Given the description of an element on the screen output the (x, y) to click on. 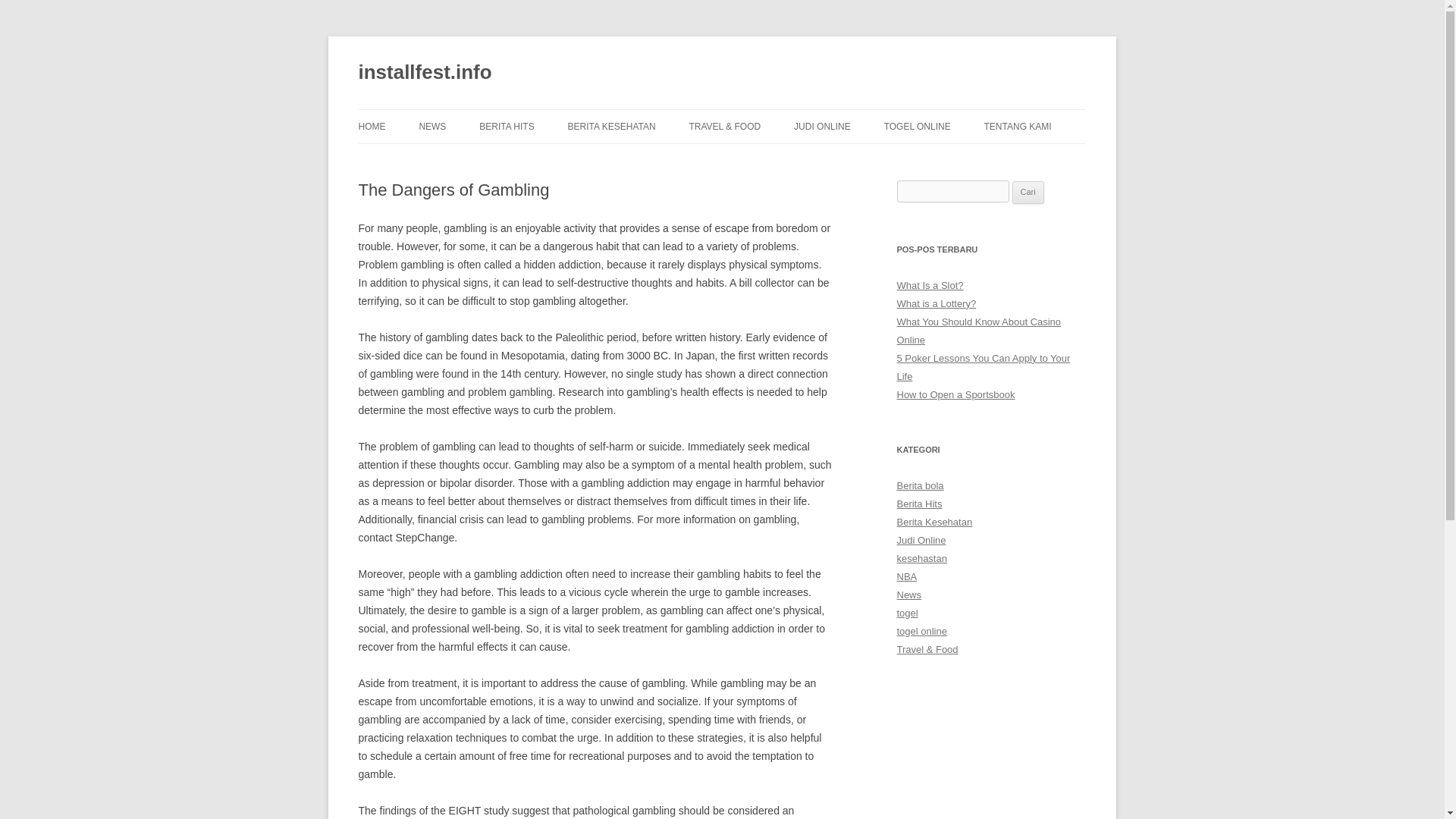
How to Open a Sportsbook (955, 394)
togel online (921, 631)
Cari (1027, 191)
BERITA KESEHATAN (611, 126)
Judi Online (920, 540)
togel (906, 613)
JUDI ONLINE (821, 126)
Berita bola (919, 485)
Cari (1027, 191)
What is a Lottery? (935, 303)
5 Poker Lessons You Can Apply to Your Life (983, 367)
TENTANG KAMI (1017, 126)
Berita Kesehatan (934, 521)
installfest.info (425, 72)
